Given the description of an element on the screen output the (x, y) to click on. 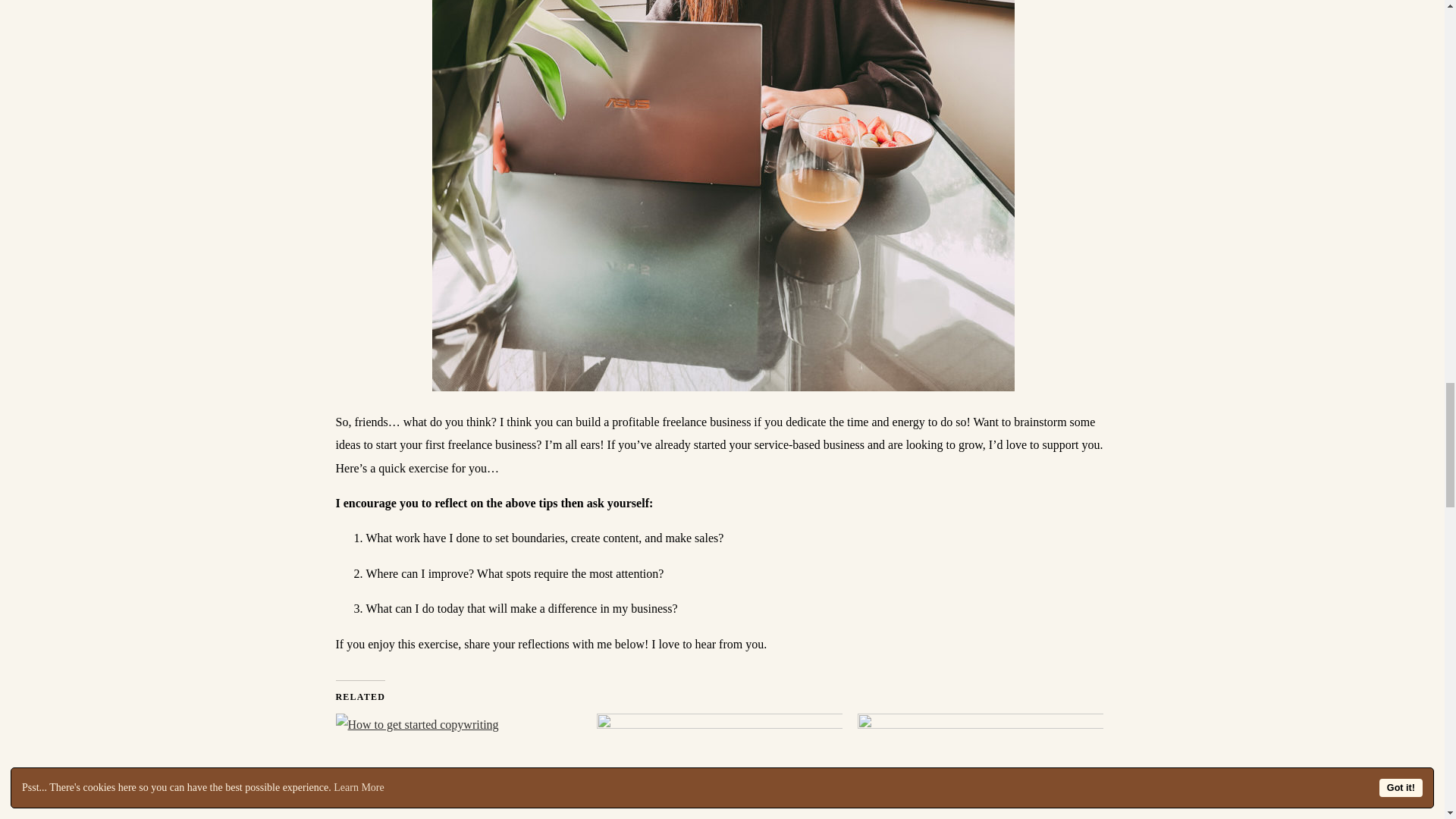
How to Start Freelancing (719, 766)
Freelance to Digital Products: How to Transition (980, 766)
